Given the description of an element on the screen output the (x, y) to click on. 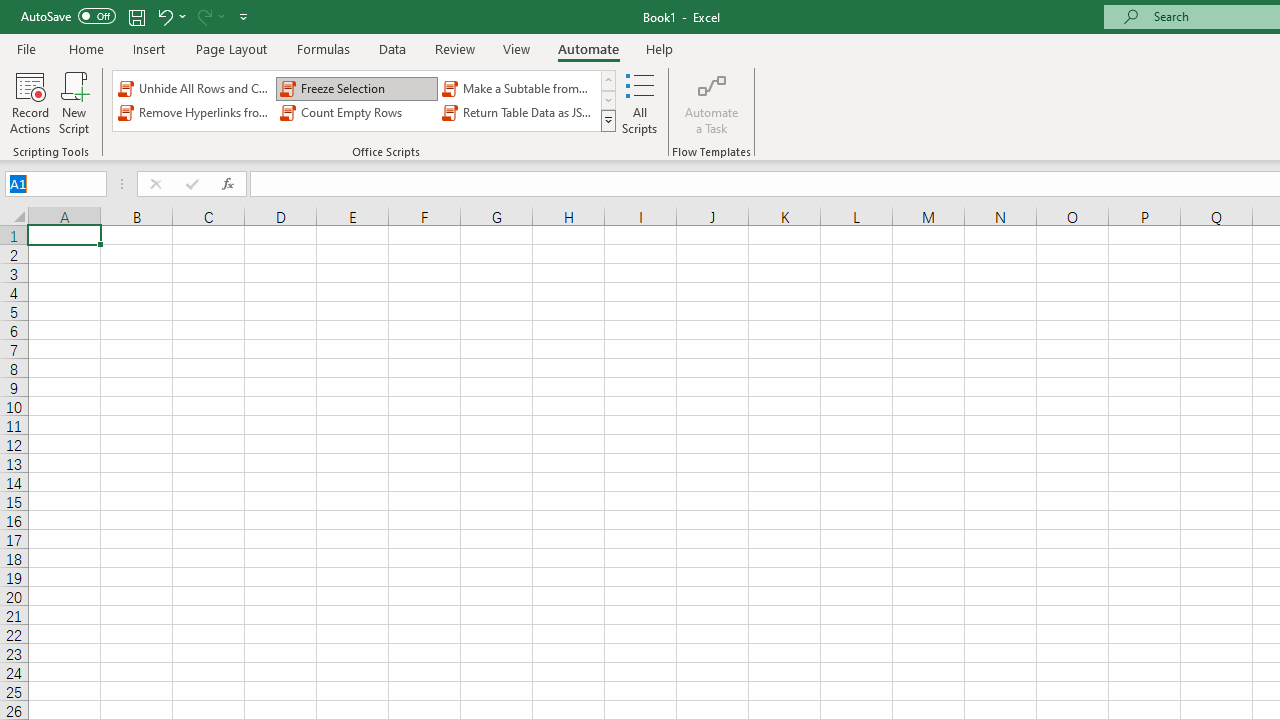
Make a Subtable from a Selection (518, 88)
All Scripts (639, 102)
Unhide All Rows and Columns (194, 88)
